Given the description of an element on the screen output the (x, y) to click on. 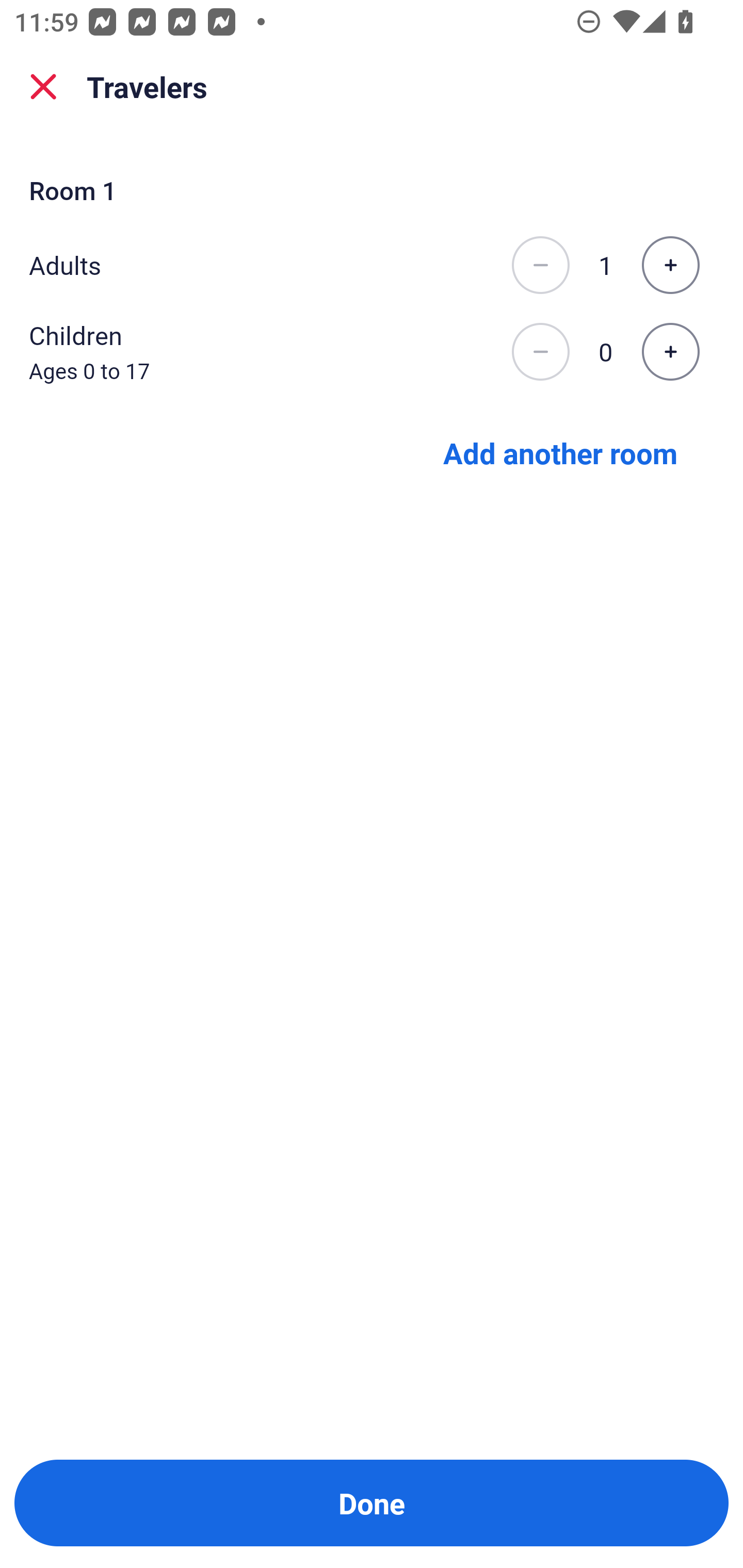
close (43, 86)
Decrease the number of adults (540, 264)
Increase the number of adults (670, 264)
Decrease the number of children (540, 351)
Increase the number of children (670, 351)
Add another room (560, 452)
Done (371, 1502)
